Given the description of an element on the screen output the (x, y) to click on. 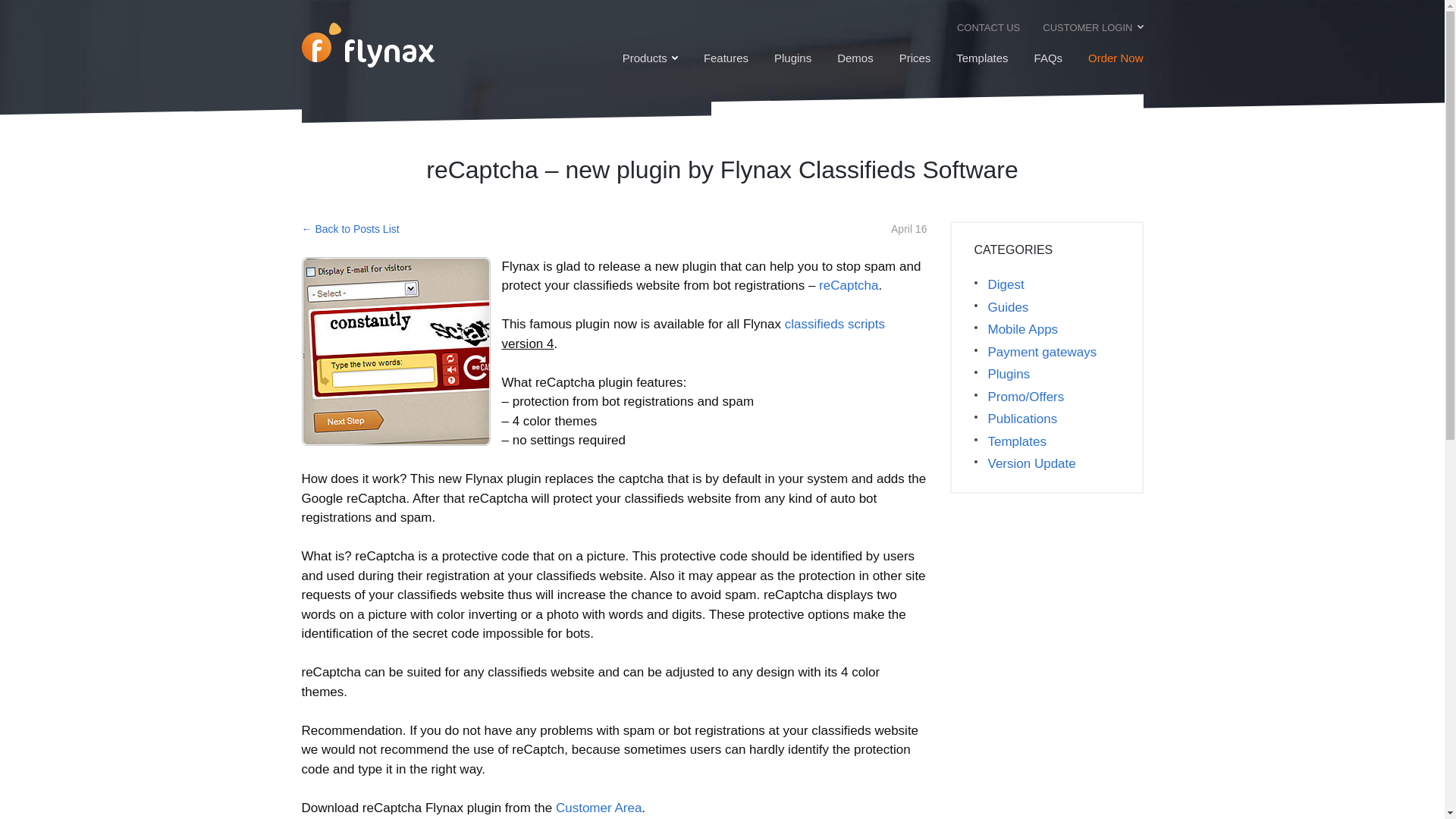
Templates (981, 57)
Payment gateways (1041, 350)
classifieds scripts (834, 323)
Templates (1016, 440)
Features (725, 57)
CONTACT US (987, 27)
Customer Area (599, 807)
Version Update (1031, 463)
Frequently Asking Questions (1047, 57)
reCaptcha (847, 285)
Mobile Apps (1022, 328)
Plugins (1008, 373)
Digest (1005, 283)
FAQs (1047, 57)
